Given the description of an element on the screen output the (x, y) to click on. 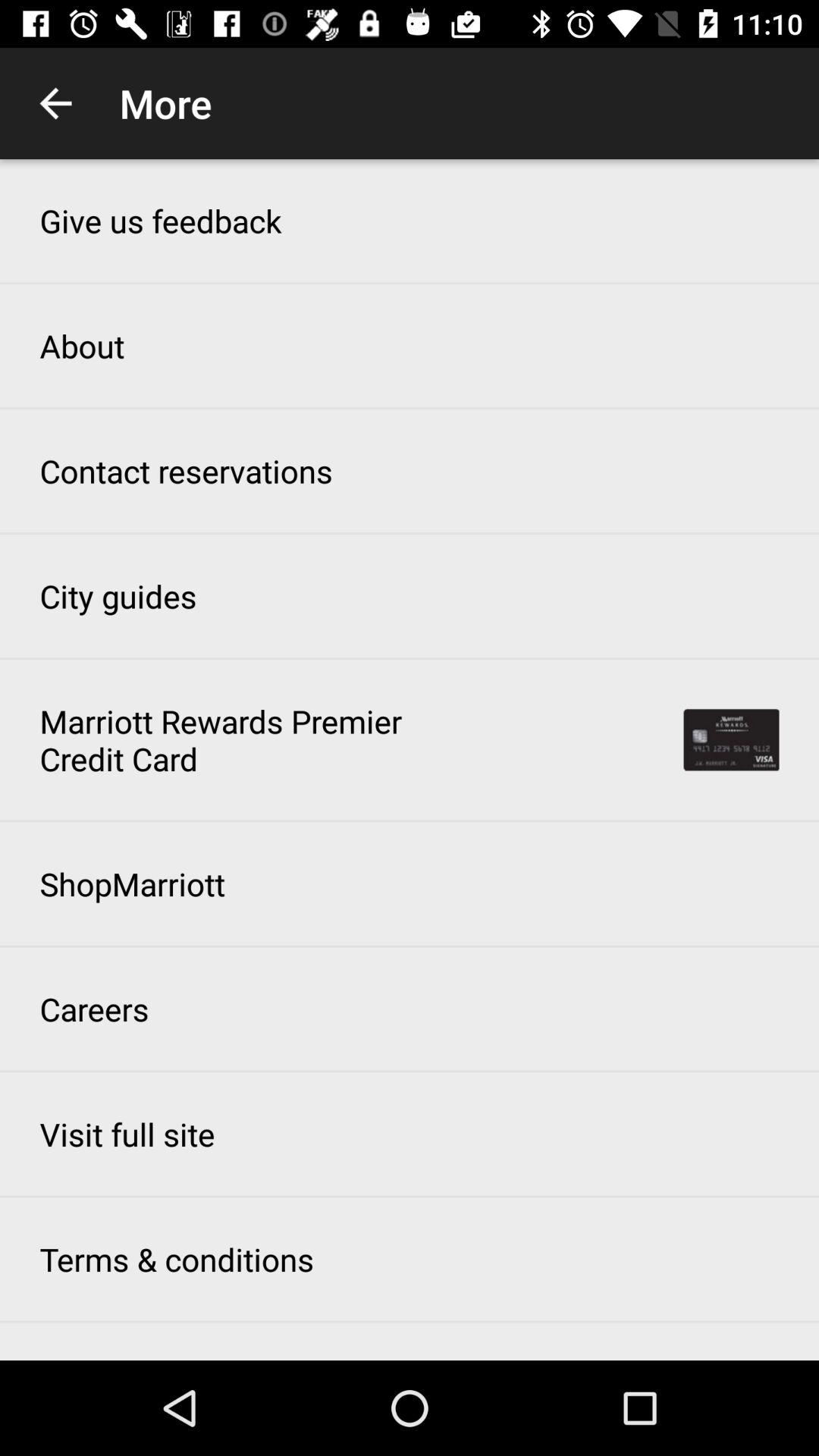
tap item next to the more (55, 103)
